Given the description of an element on the screen output the (x, y) to click on. 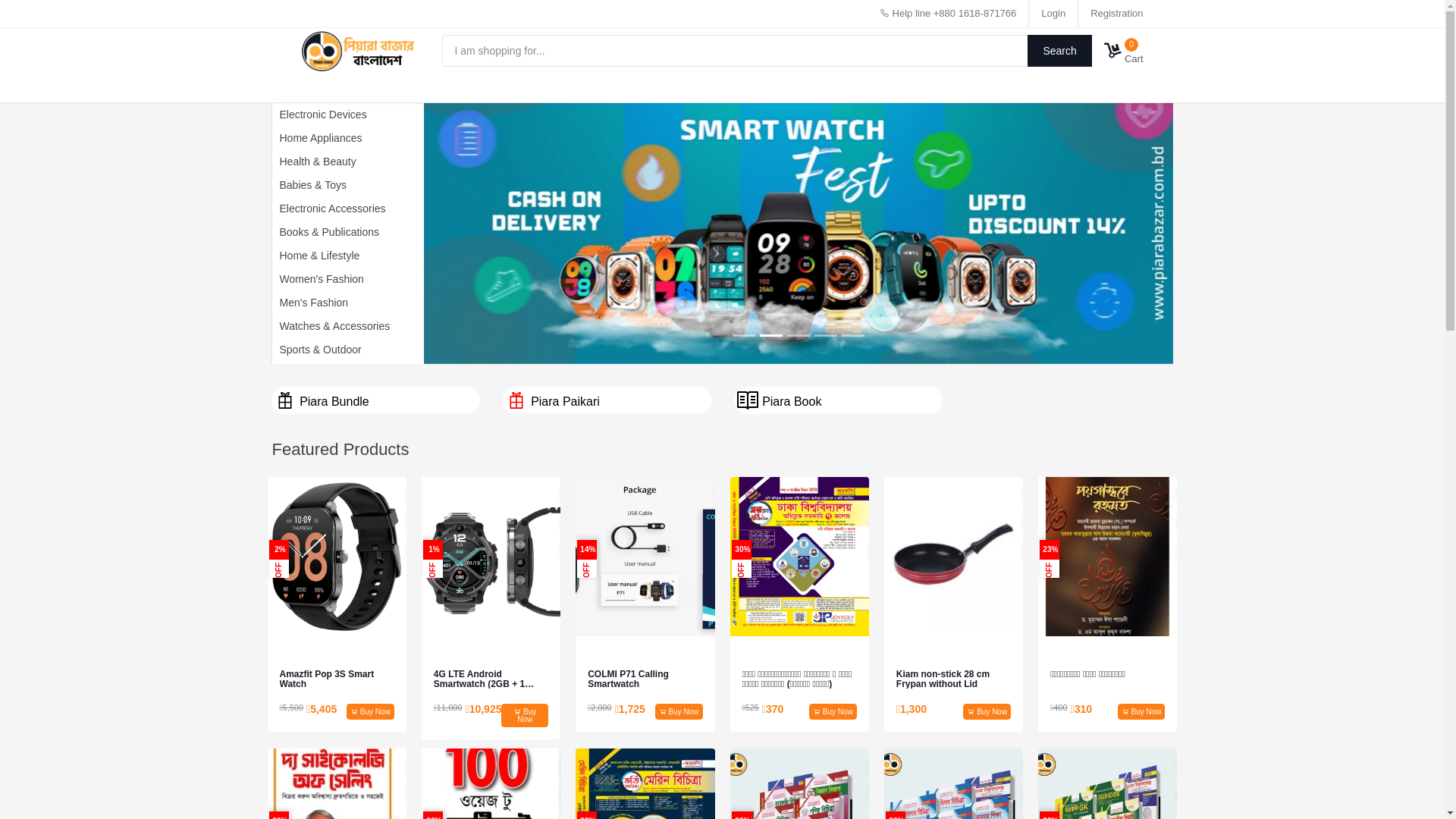
Home Appliances Element type: text (316, 137)
Help line +880 1618-871766 Element type: text (947, 13)
Piara Book Element type: text (838, 400)
Kiam non-stick 28 cm Frypan without Lid Element type: text (953, 679)
Babies & Toys Element type: text (308, 184)
Health & Beauty Element type: text (313, 161)
Buy Now Element type: text (1141, 711)
Registration Element type: text (1116, 13)
Piara Paikari Element type: text (606, 400)
0
Cart Element type: text (1123, 50)
Kiam non-stick 28 cm Frypan without Lid Element type: hover (953, 556)
Books & Publications Element type: text (325, 231)
Buy Now Element type: text (524, 715)
Amazfit Pop 3S Smart Watch Element type: text (336, 679)
Home & Lifestyle Element type: text (315, 255)
Search Element type: text (1059, 50)
Login Element type: text (1053, 13)
COLMI P71 Calling Smartwatch Element type: text (644, 679)
Men's Fashion Element type: text (309, 302)
Piara Bundle Element type: text (375, 400)
Buy Now Element type: text (678, 711)
Electronic Accessories Element type: text (328, 208)
Buy Now Element type: text (986, 711)
Watches & Accessories Element type: text (330, 326)
Buy Now Element type: text (370, 711)
COLMI P71 Calling Smartwatch Element type: hover (644, 556)
Amazfit Pop 3S Smart Watch Element type: hover (336, 556)
Electronic Devices Element type: text (318, 114)
Sports & Outdoor Element type: text (315, 349)
Women's Fashion Element type: text (317, 279)
Buy Now Element type: text (832, 711)
